Given the description of an element on the screen output the (x, y) to click on. 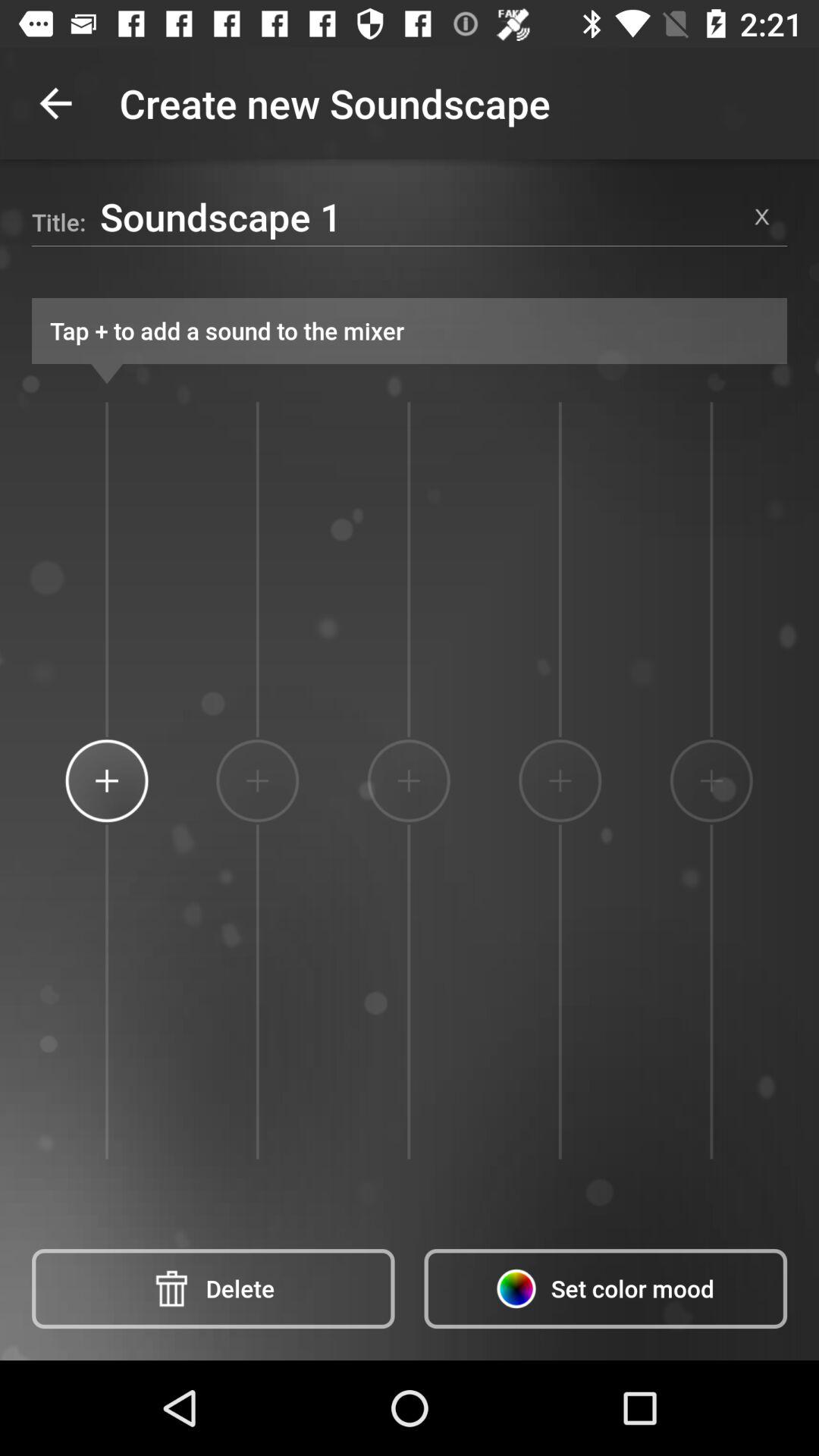
launch item above the tap to add item (418, 216)
